Given the description of an element on the screen output the (x, y) to click on. 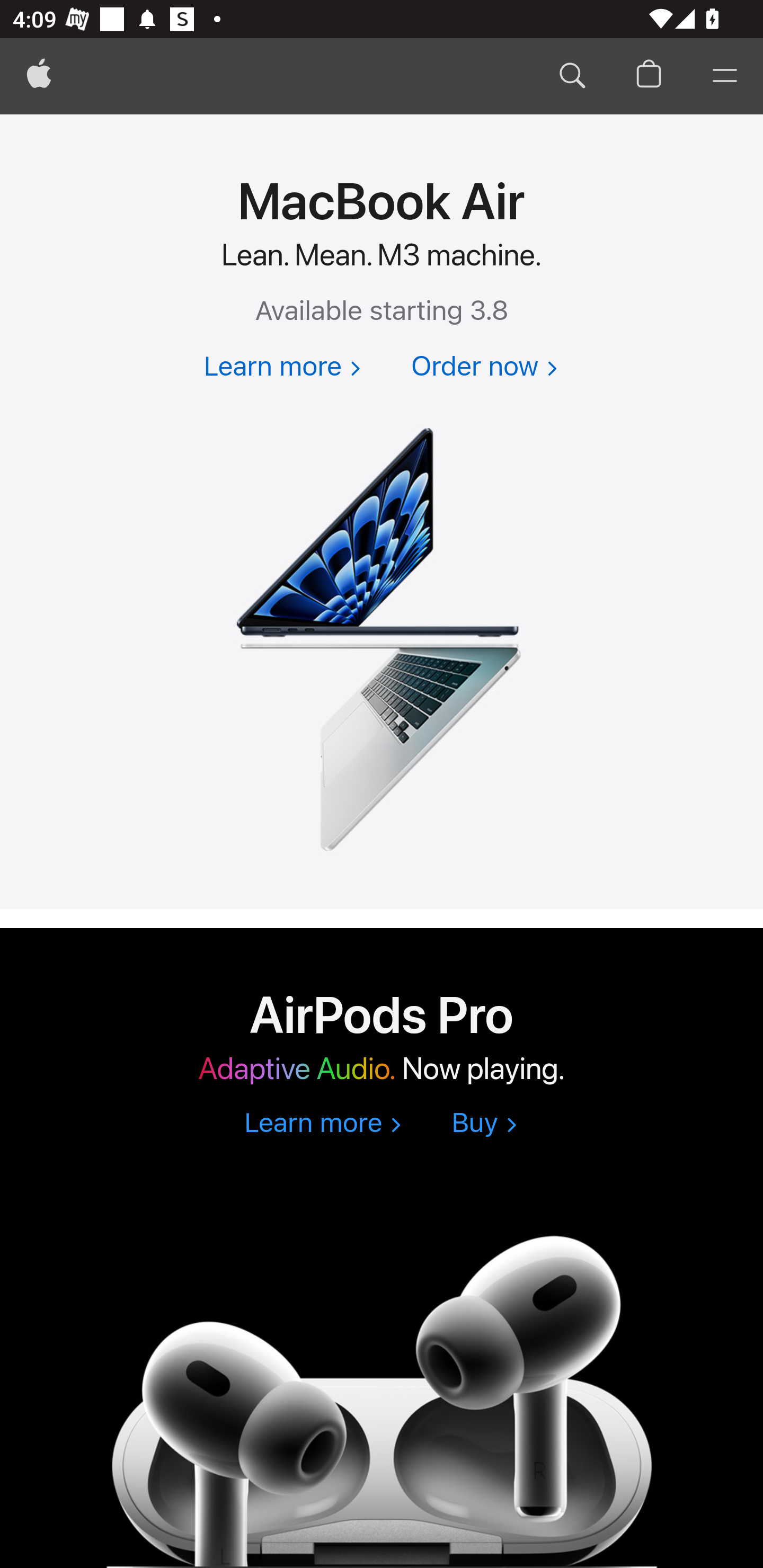
Apple (38, 75)
Search apple.com (572, 75)
Shopping Bag (648, 75)
Menu (724, 75)
Order now, Macbook Air with M3 chip Order now  (483, 367)
Learn more about AirPods Pro Learn more  (322, 1124)
Buy AirPods Pro Buy  (484, 1124)
